Given the description of an element on the screen output the (x, y) to click on. 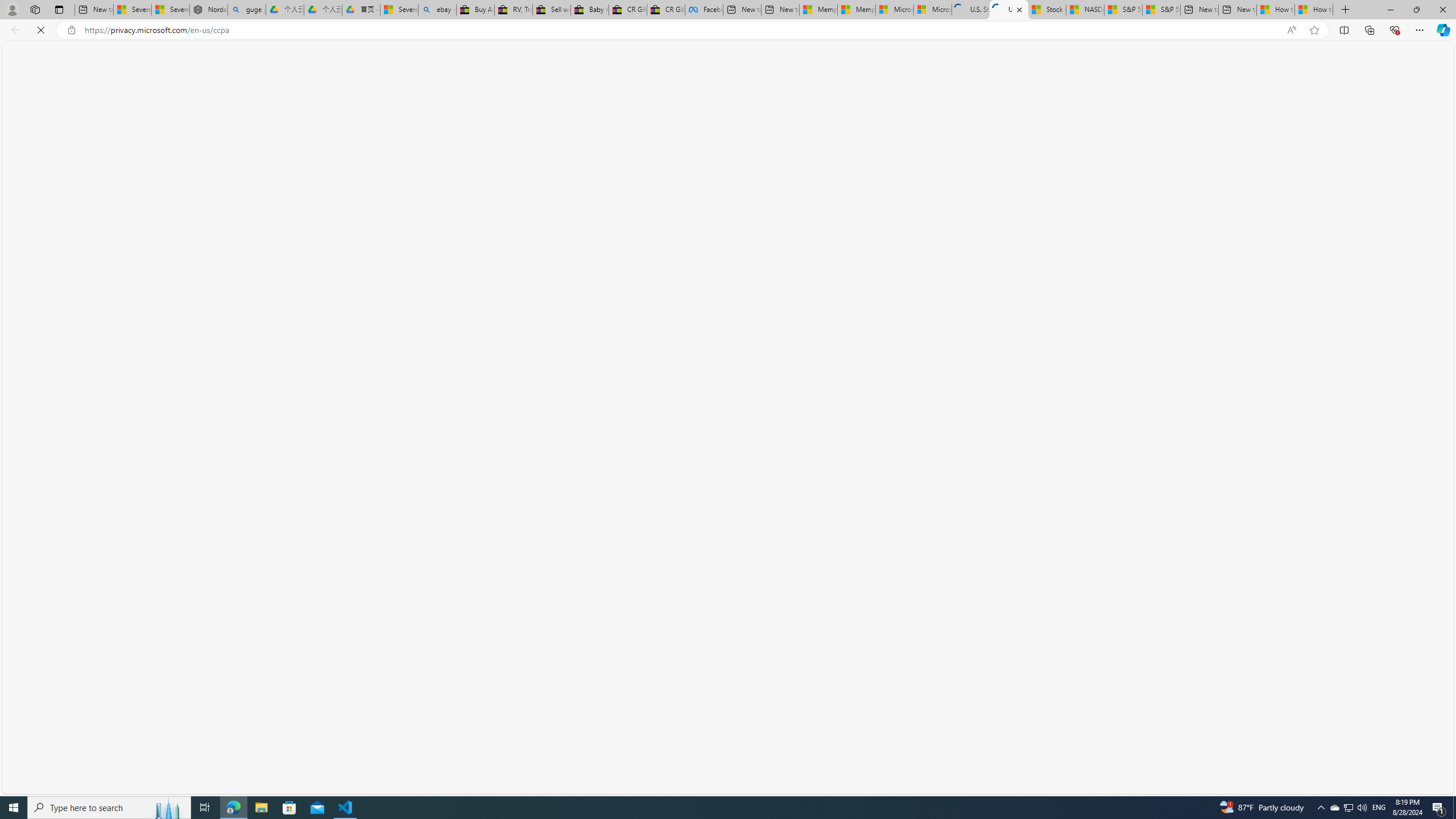
Sell worldwide with eBay (551, 9)
